Given the description of an element on the screen output the (x, y) to click on. 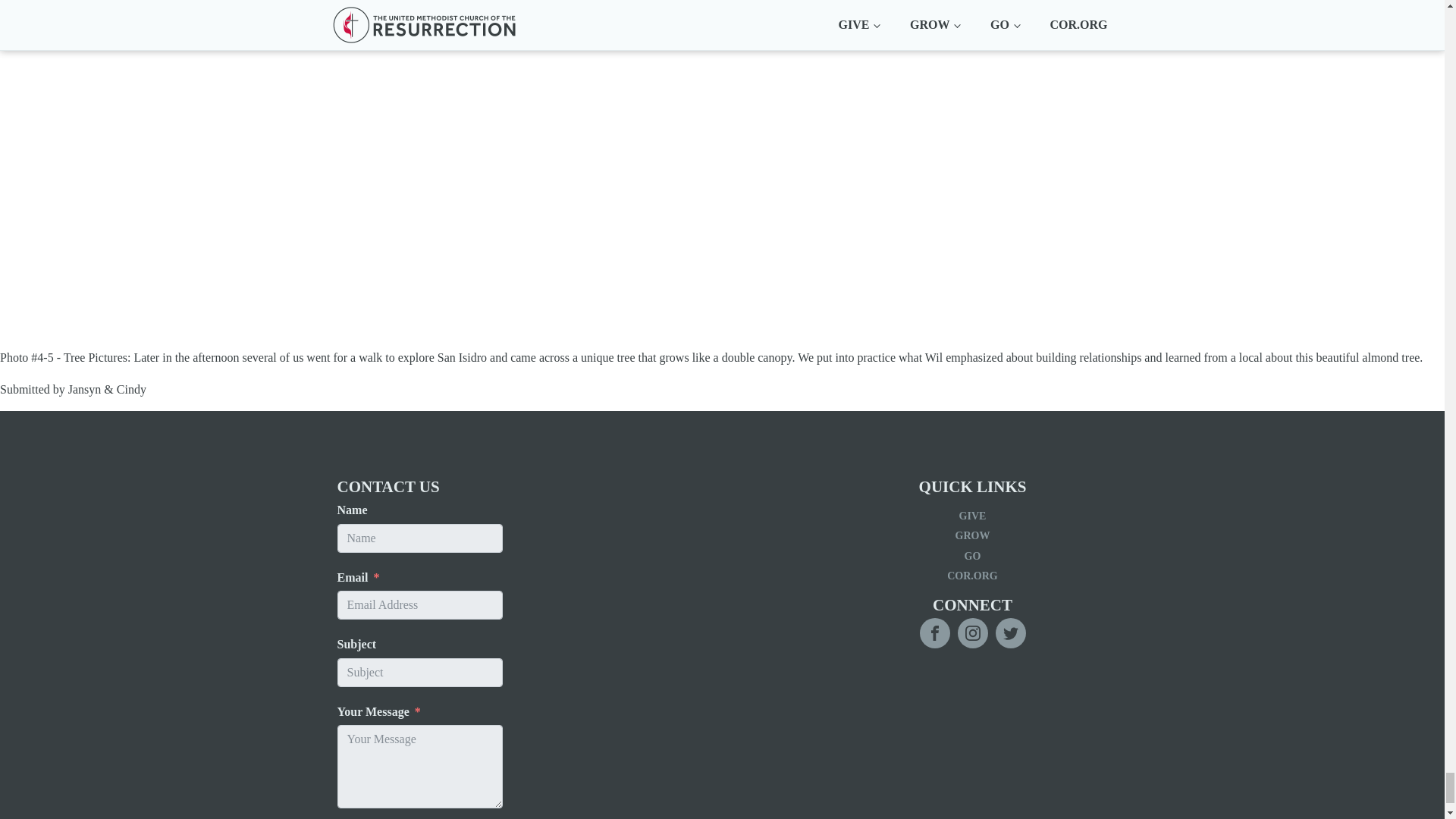
GROW (971, 536)
COR.ORG (971, 576)
GO (971, 556)
GIVE (971, 516)
